Given the description of an element on the screen output the (x, y) to click on. 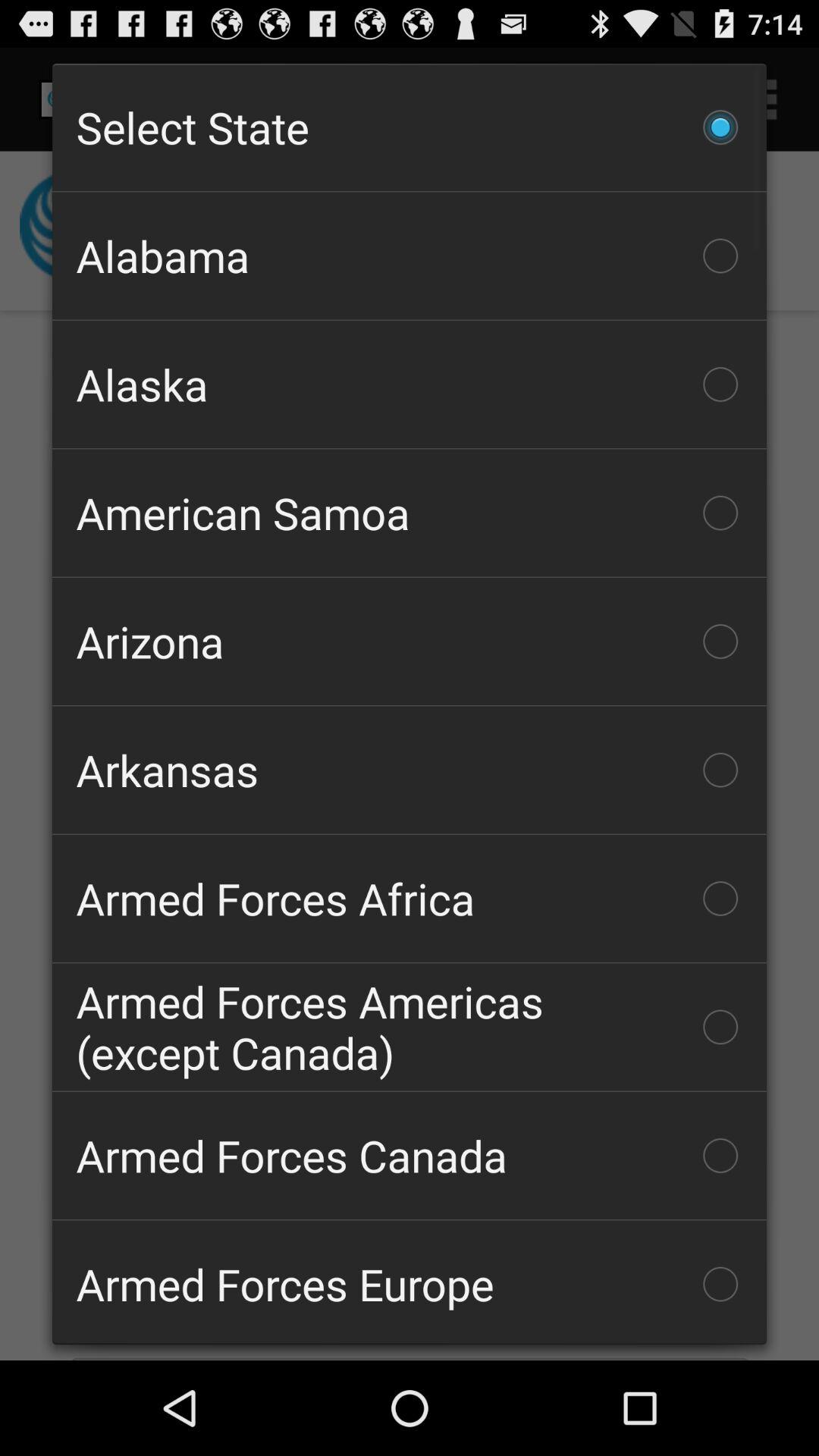
turn off the icon below alaska checkbox (409, 512)
